Given the description of an element on the screen output the (x, y) to click on. 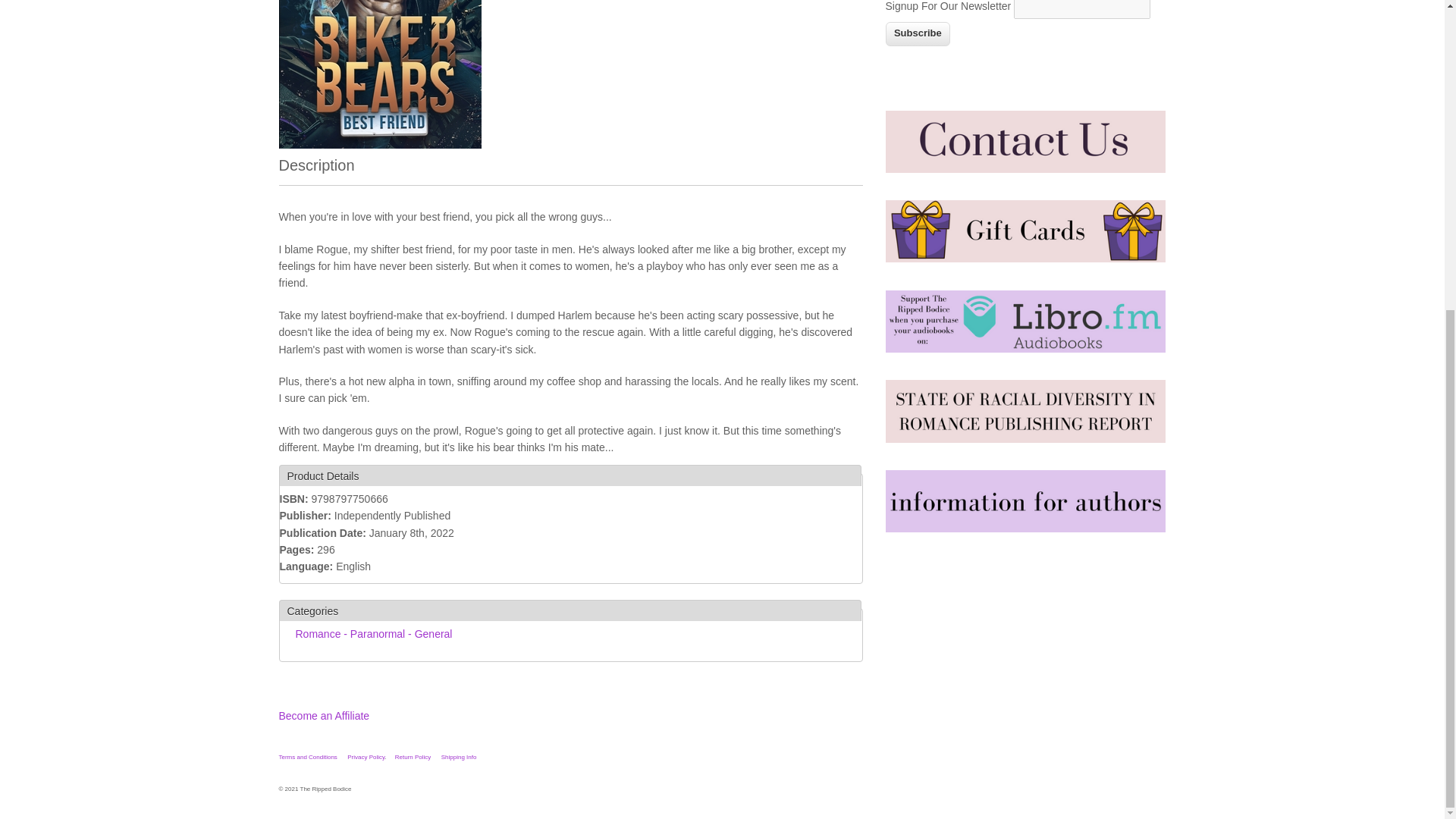
Return Policy (412, 756)
Terms and Conditions (308, 756)
Romance - Paranormal - General (373, 633)
Shipping Info (459, 756)
Subscribe (917, 33)
Privacy Policy (365, 756)
Subscribe (917, 33)
Become an Affiliate (324, 715)
